Given the description of an element on the screen output the (x, y) to click on. 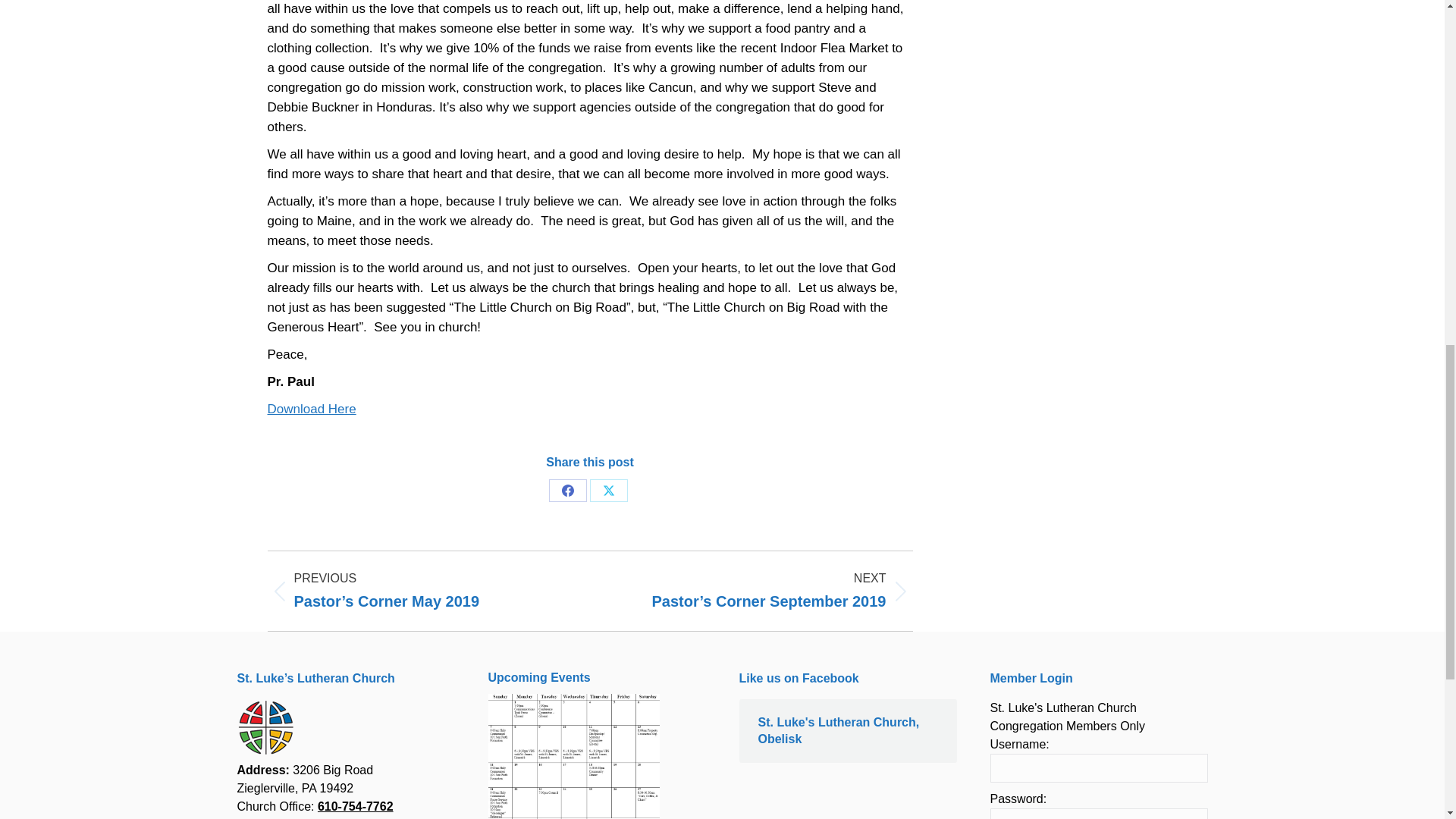
Facebook (567, 490)
X (608, 490)
